Given the description of an element on the screen output the (x, y) to click on. 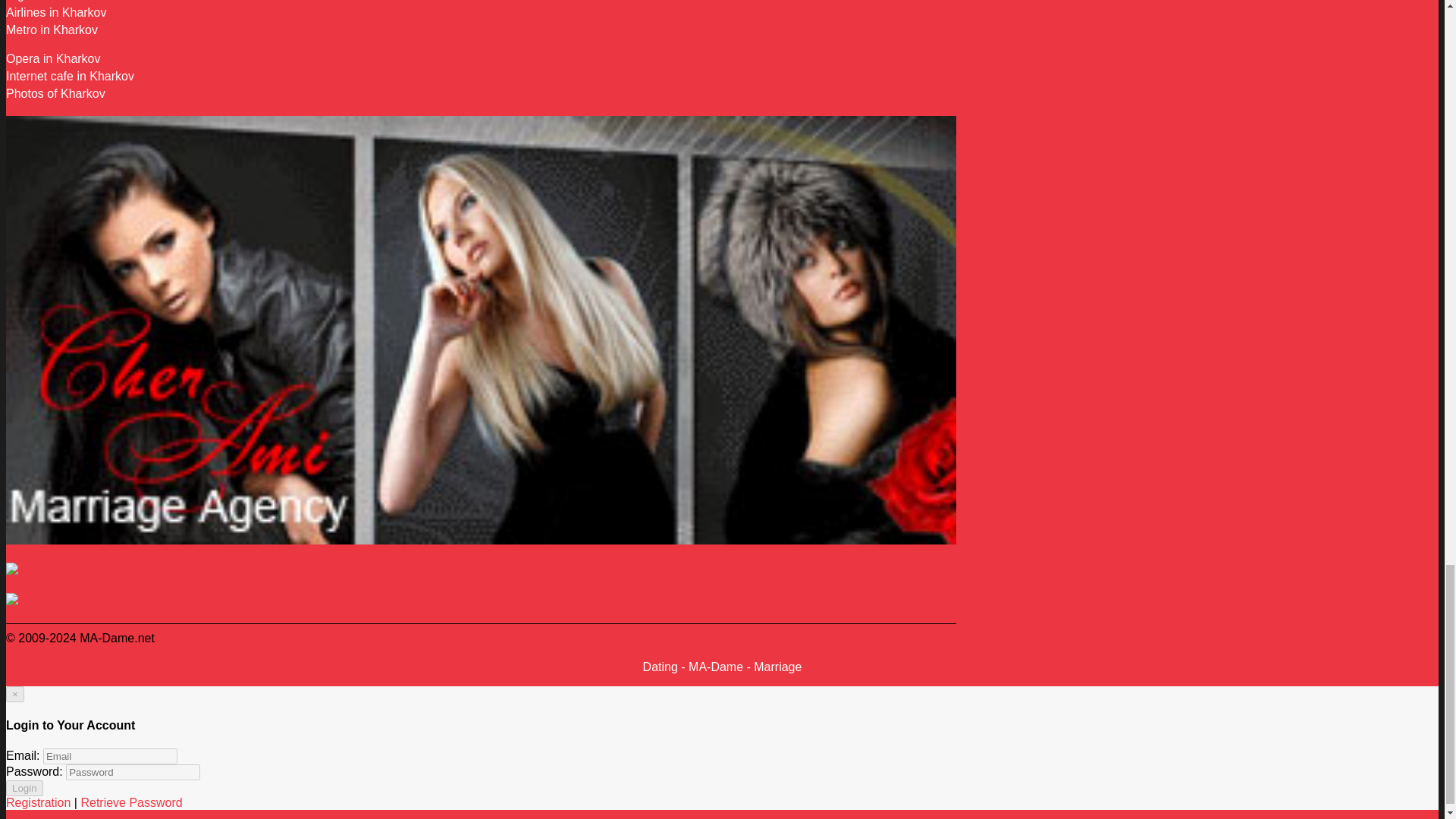
Login (24, 788)
